Given the description of an element on the screen output the (x, y) to click on. 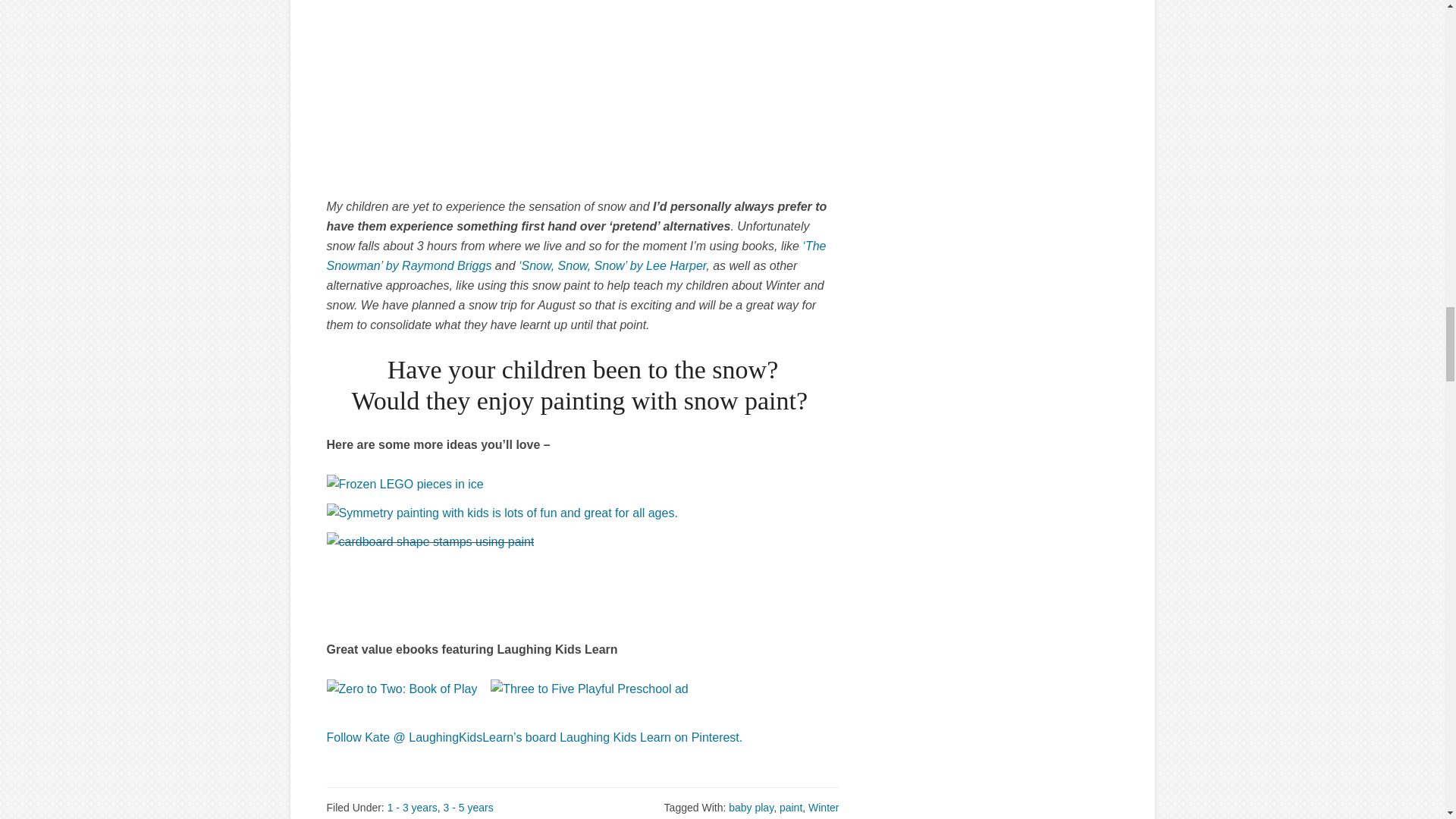
3 - 5 years (468, 807)
baby play (751, 807)
paint (790, 807)
Winter (823, 807)
1 - 3 years (412, 807)
